Given the description of an element on the screen output the (x, y) to click on. 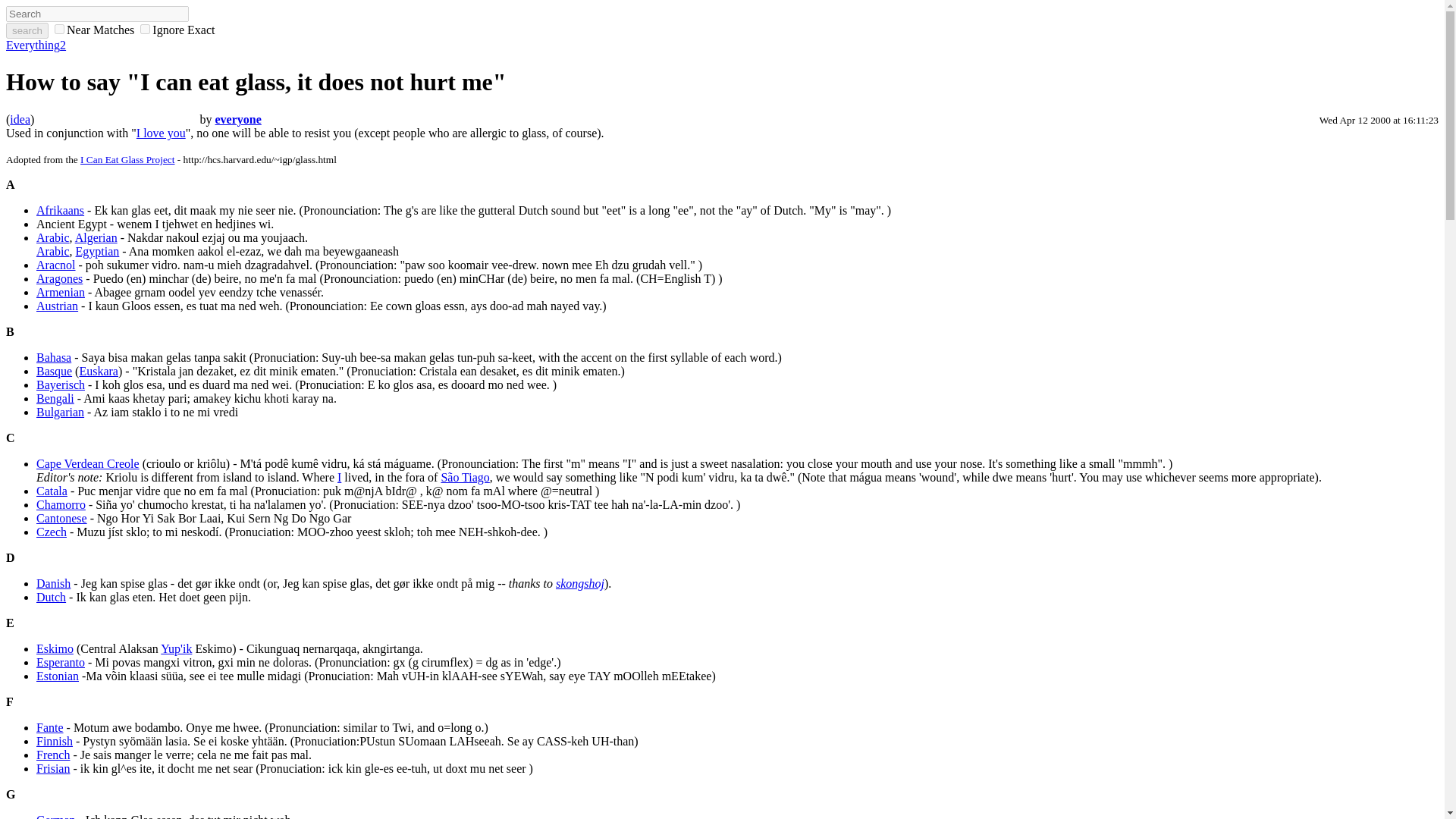
How to say ''I love you'' (161, 132)
Algerian (96, 237)
Search within Everything2 (26, 30)
Aragones (59, 278)
Aracnol (55, 264)
Estonian (57, 675)
1 (59, 29)
idea (20, 119)
Catala (51, 490)
skongshoj (580, 583)
